Given the description of an element on the screen output the (x, y) to click on. 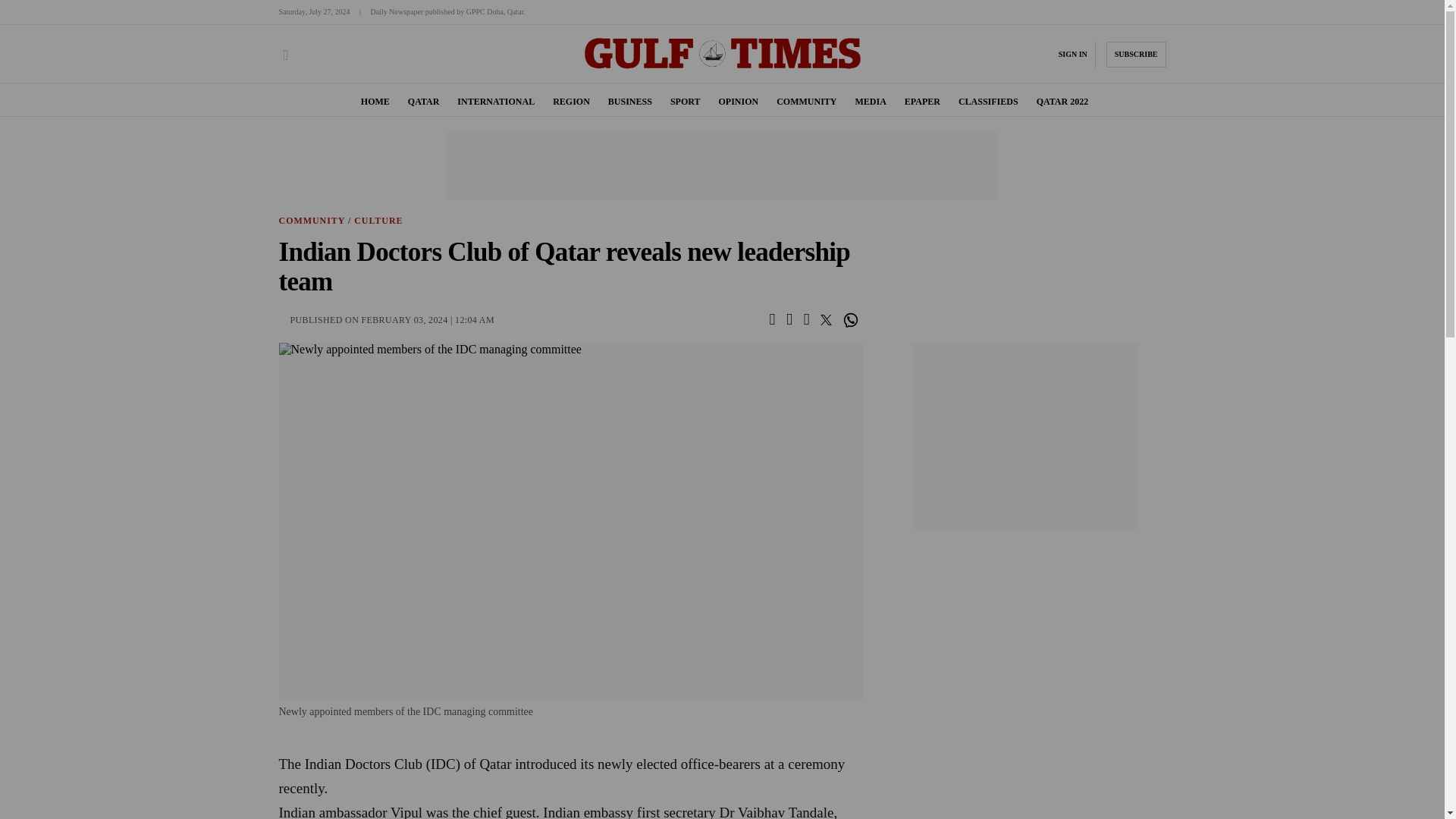
EPAPER (922, 101)
SUBSCRIBE (1136, 54)
HOME (375, 101)
INTERNATIONAL (495, 101)
COMMUNITY (805, 101)
EPAPER (922, 101)
BUSINESS (630, 101)
twitter share (825, 318)
HOME (375, 101)
whatsapp share (852, 319)
Qatar 2022 (1062, 101)
INTERNATIONAL (495, 101)
Community (312, 220)
REGION (571, 101)
Subscribe (1136, 54)
